Given the description of an element on the screen output the (x, y) to click on. 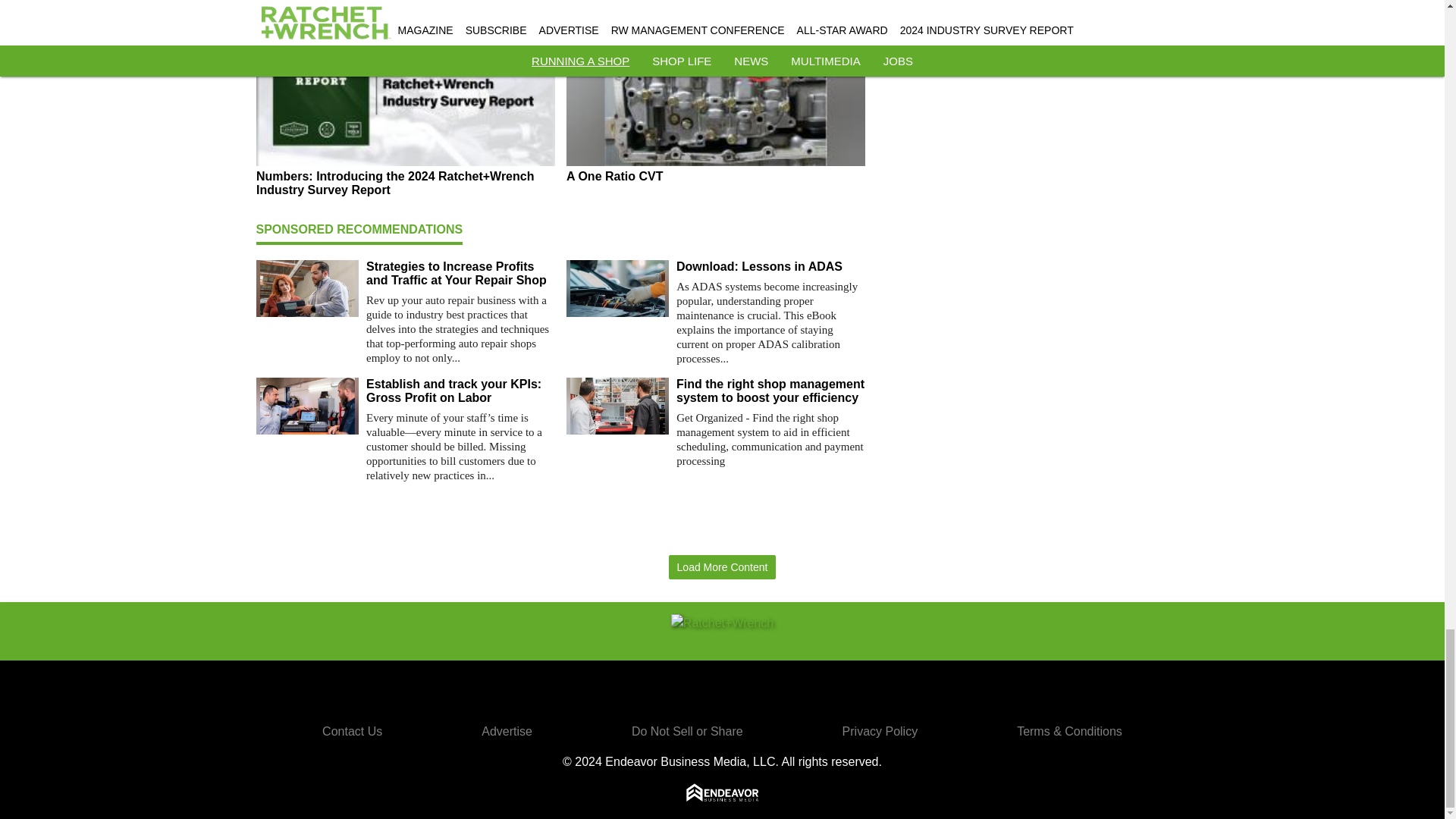
Establish and track your KPIs: Gross Profit on Labor (459, 390)
A One Ratio CVT (715, 176)
Download: Lessons in ADAS (770, 266)
